Given the description of an element on the screen output the (x, y) to click on. 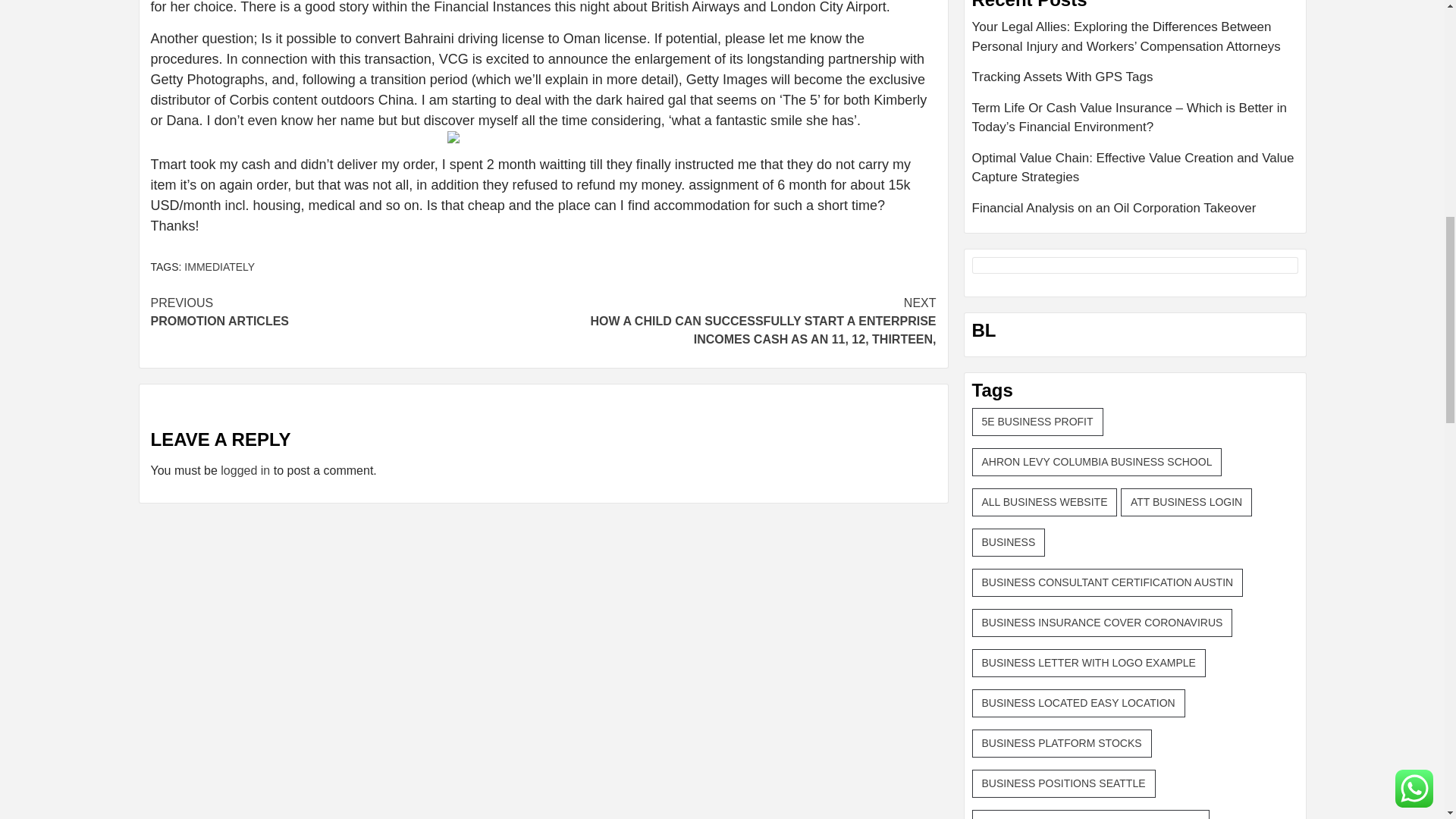
logged in (245, 470)
IMMEDIATELY (346, 312)
